Given the description of an element on the screen output the (x, y) to click on. 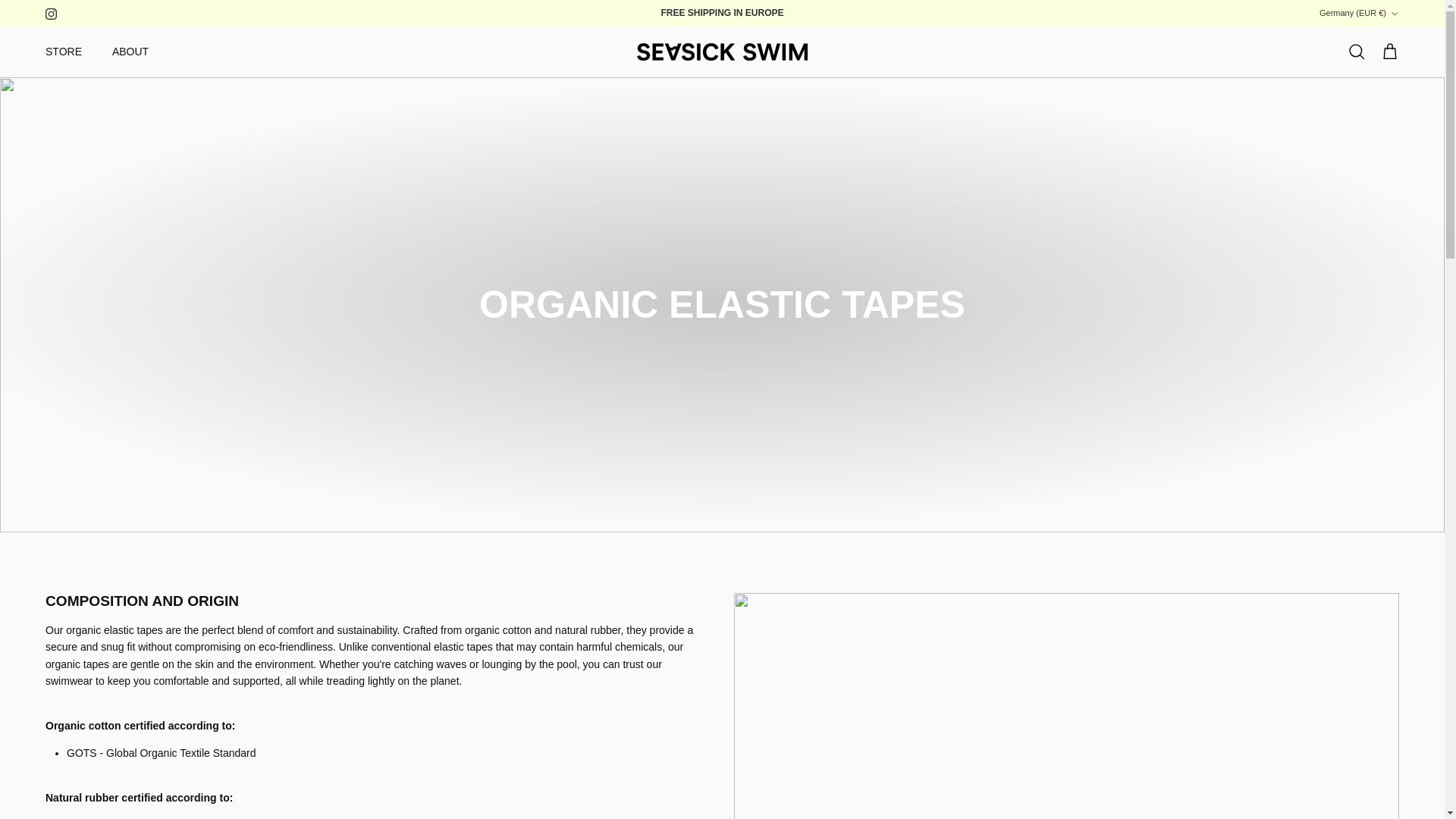
Instagram (50, 12)
SEASICK SWIM on Instagram (50, 12)
Cart (1389, 52)
Search (1356, 52)
ABOUT (130, 51)
SEASICK SWIM (722, 52)
STORE (64, 51)
